Given the description of an element on the screen output the (x, y) to click on. 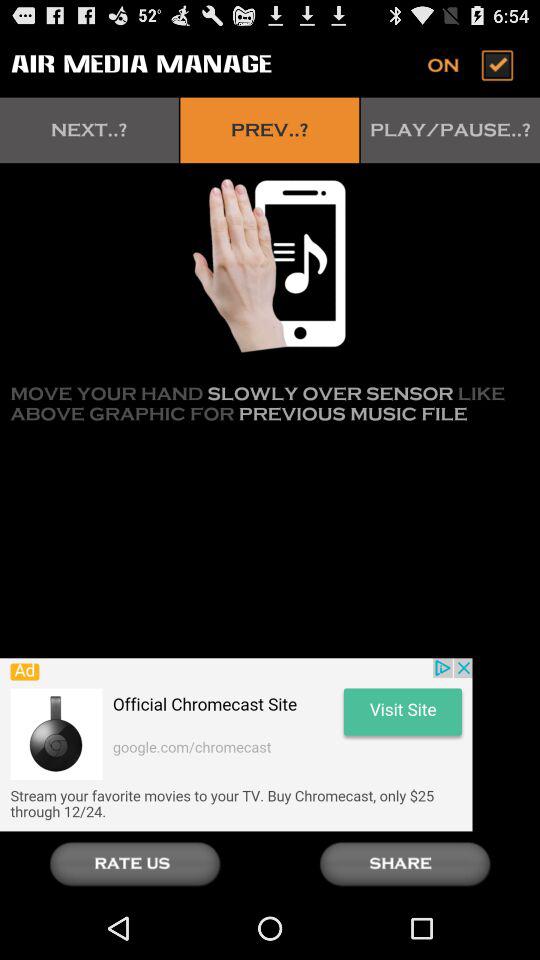
switch on or off button (472, 64)
